Given the description of an element on the screen output the (x, y) to click on. 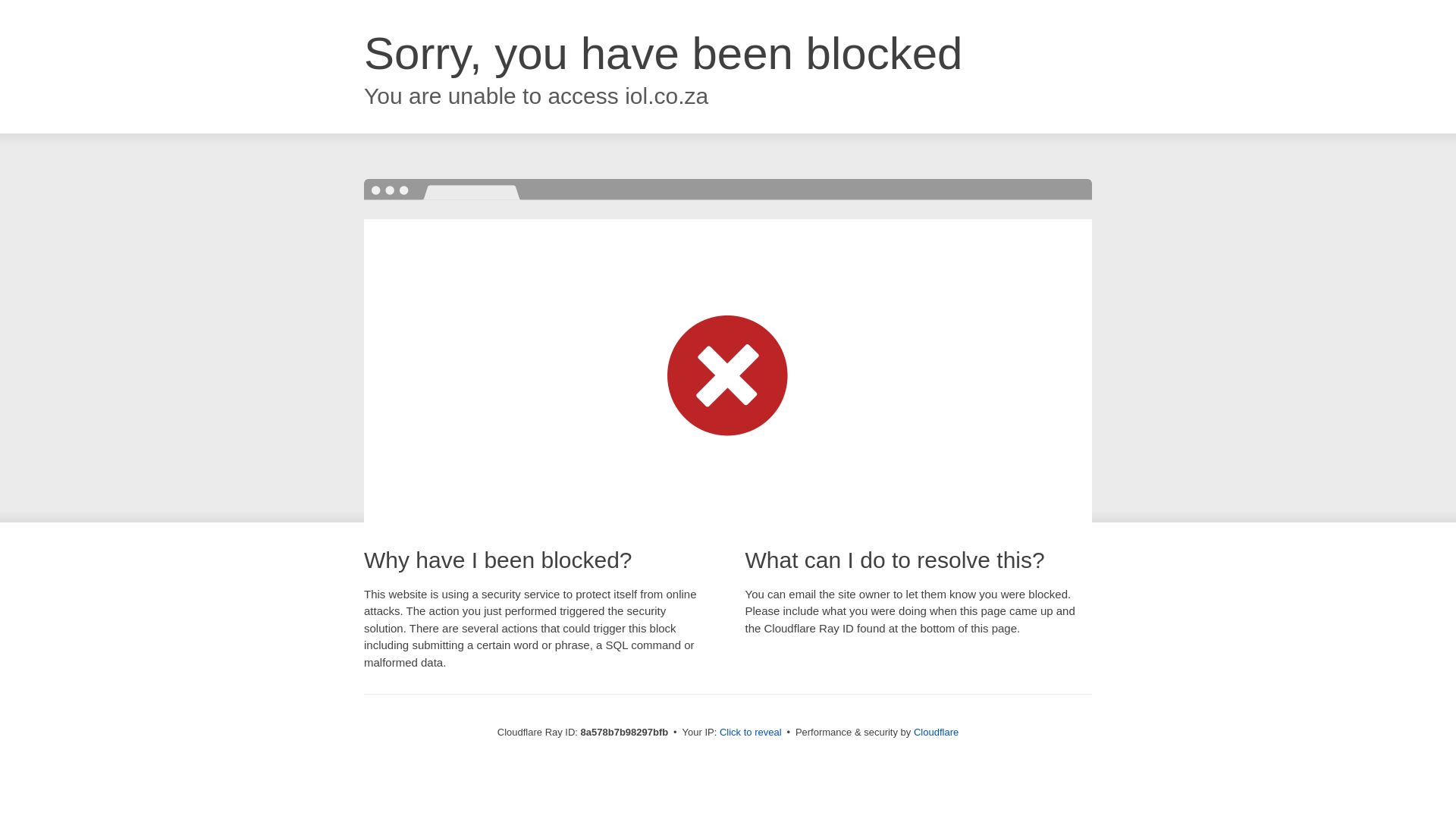
Cloudflare (936, 731)
Click to reveal (750, 732)
